Given the description of an element on the screen output the (x, y) to click on. 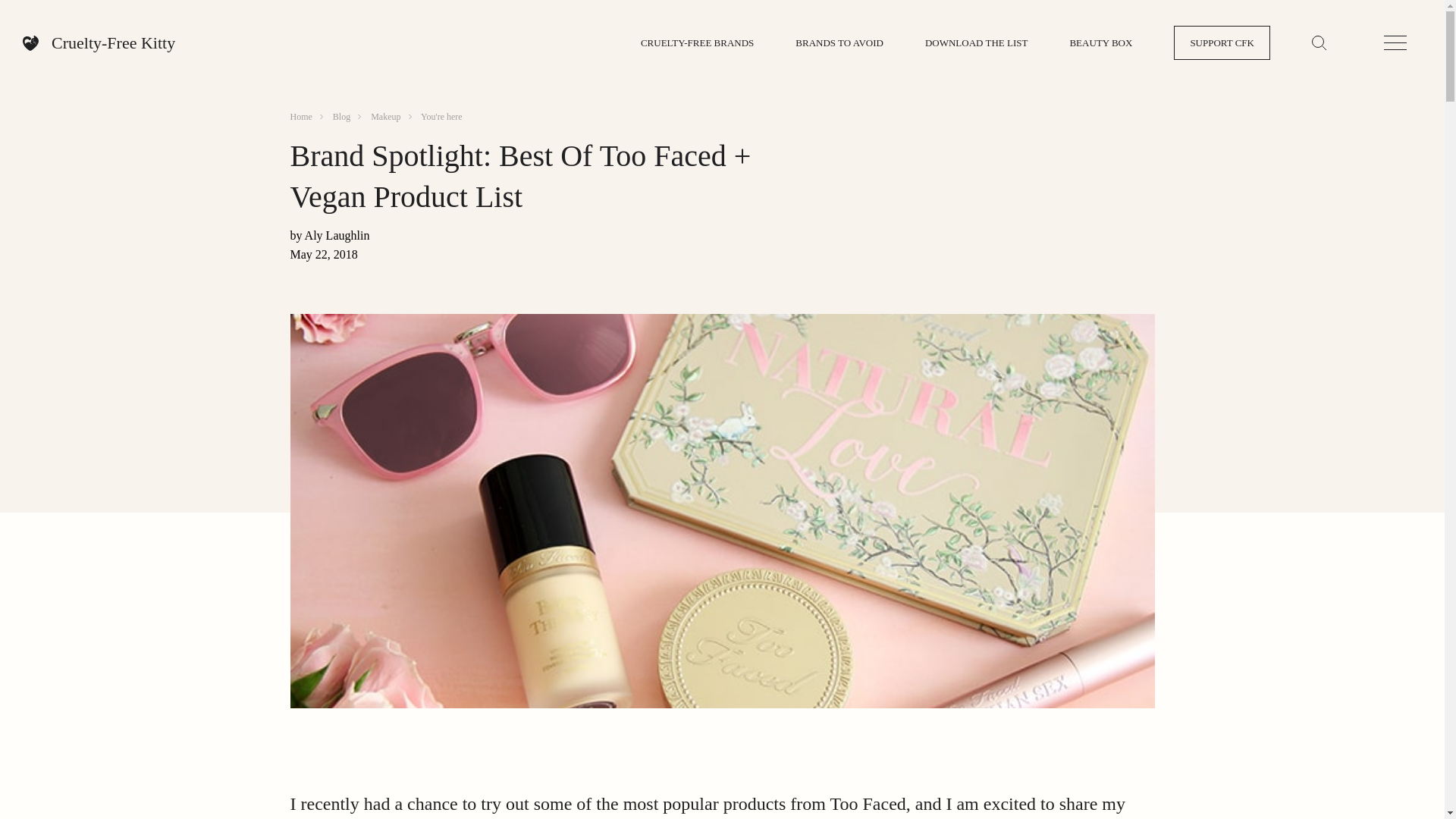
Cruelty-Free Kitty (98, 43)
SUPPORT CFK (1221, 42)
BRANDS TO AVOID (838, 42)
BEAUTY BOX (1100, 42)
CRUELTY-FREE BRANDS (697, 42)
DOWNLOAD THE LIST (975, 42)
